Given the description of an element on the screen output the (x, y) to click on. 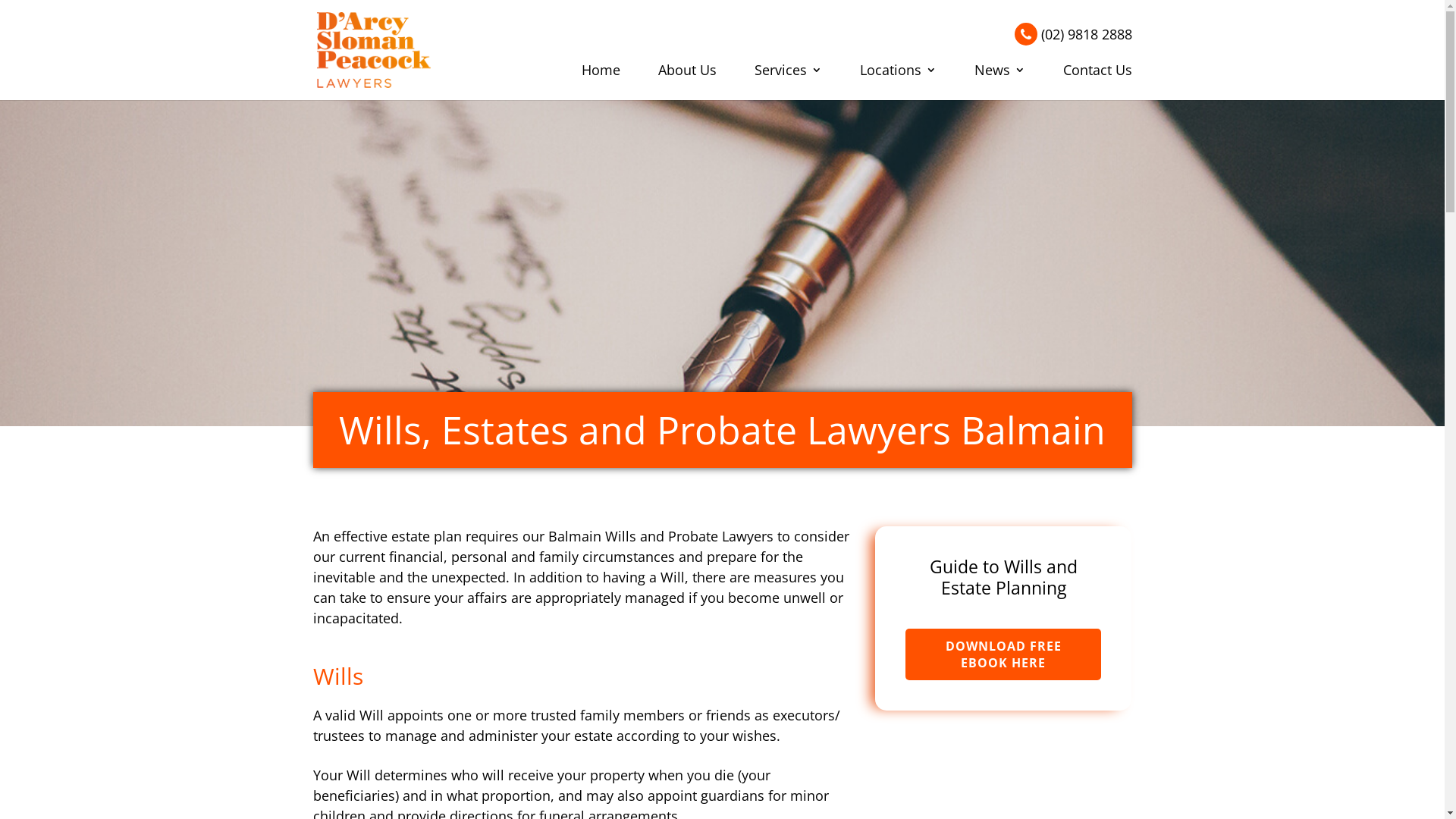
(02) 9818 2888 Element type: text (1073, 34)
Contact Us Element type: text (1097, 76)
will-banner Element type: hover (722, 255)
Home Element type: text (599, 76)
Services Element type: text (787, 76)
News Element type: text (998, 76)
Locations Element type: text (897, 76)
About Us Element type: text (687, 76)
DOWNLOAD FREE EBOOK HERE Element type: text (1003, 654)
